Given the description of an element on the screen output the (x, y) to click on. 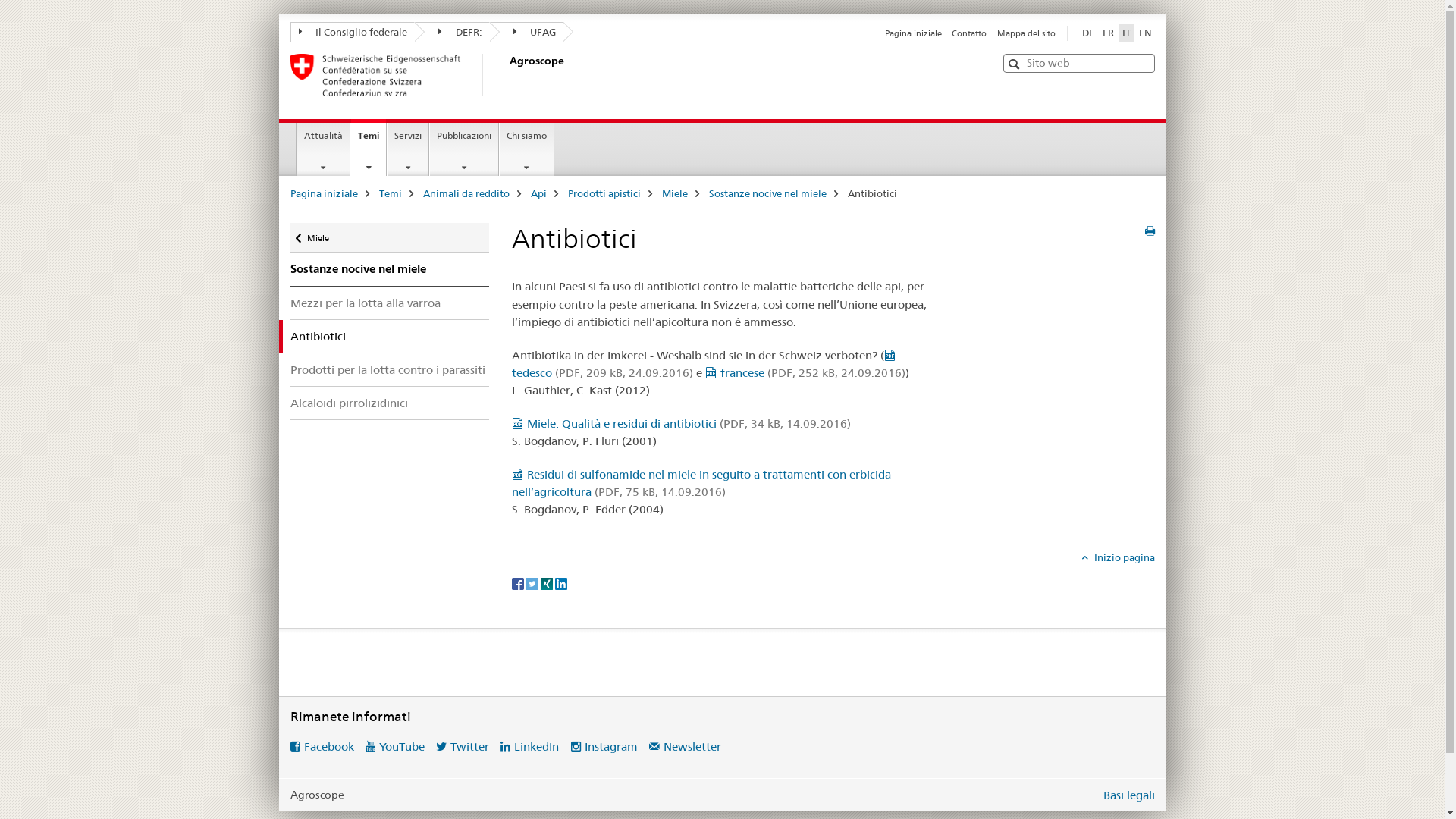
UFAG Element type: text (526, 31)
Facebook Element type: text (321, 746)
FR Element type: text (1108, 32)
Pagina iniziale Element type: text (323, 193)
Alcaloidi pirrolizidinici Element type: text (389, 402)
Instagram Element type: text (604, 746)
Basi legali Element type: text (1128, 794)
Agroscope Element type: text (505, 74)
Mezzi per la lotta alla varroa Element type: text (389, 302)
Contatto Element type: text (968, 33)
Ritorna a
Miele Element type: text (389, 237)
Api Element type: text (538, 193)
Il Consiglio federale Element type: text (351, 31)
tedesco (PDF, 209 kB, 24.09.2016) Element type: text (705, 363)
Newsletter Element type: text (685, 746)
Animali da reddito Element type: text (466, 193)
Miele Element type: text (674, 193)
Stampa la pagina Element type: hover (1149, 230)
Servizi Element type: text (407, 148)
Inizio pagina Element type: text (1117, 557)
Sostanze nocive nel miele Element type: text (389, 268)
Sostanze nocive nel miele Element type: text (766, 193)
Prodotti per la lotta contro i parassiti Element type: text (389, 369)
Temi Element type: text (390, 193)
LinkedIn Element type: text (529, 746)
Pagina iniziale Element type: text (912, 33)
francese (PDF, 252 kB, 24.09.2016) Element type: text (805, 372)
Twitter Element type: text (462, 746)
DEFR: Element type: text (451, 31)
Pubblicazioni Element type: text (463, 148)
DE Element type: text (1087, 32)
YouTube Element type: text (394, 746)
Chi siamo Element type: text (526, 148)
IT Element type: text (1126, 32)
EN Element type: text (1144, 32)
Temi
current page Element type: text (368, 147)
Mappa del sito Element type: text (1025, 33)
Prodotti apistici Element type: text (603, 193)
